Given the description of an element on the screen output the (x, y) to click on. 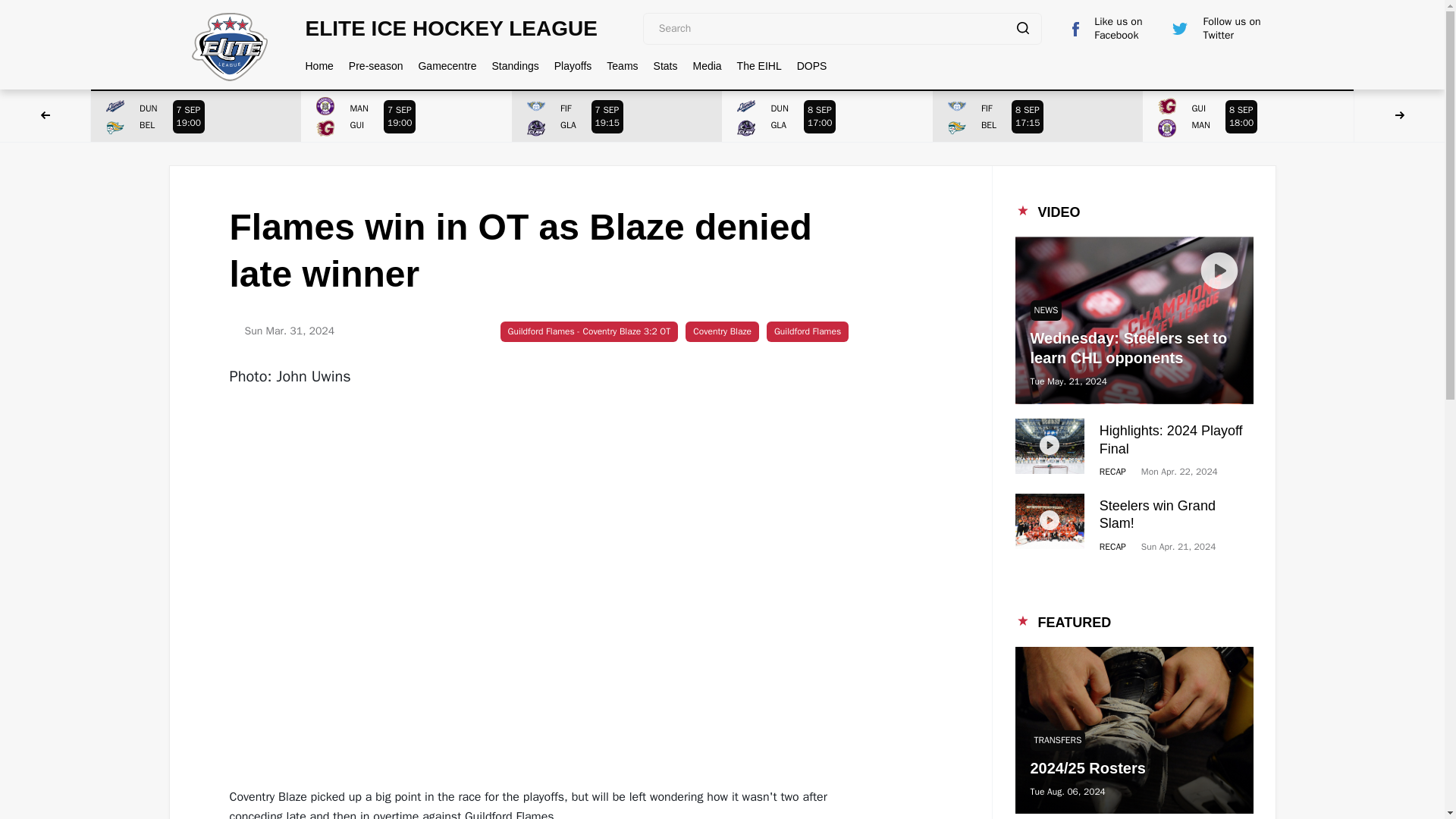
Back to top (617, 115)
Pre-season (826, 115)
Playoffs (1037, 115)
DOPS (195, 115)
Stats (376, 65)
